Given the description of an element on the screen output the (x, y) to click on. 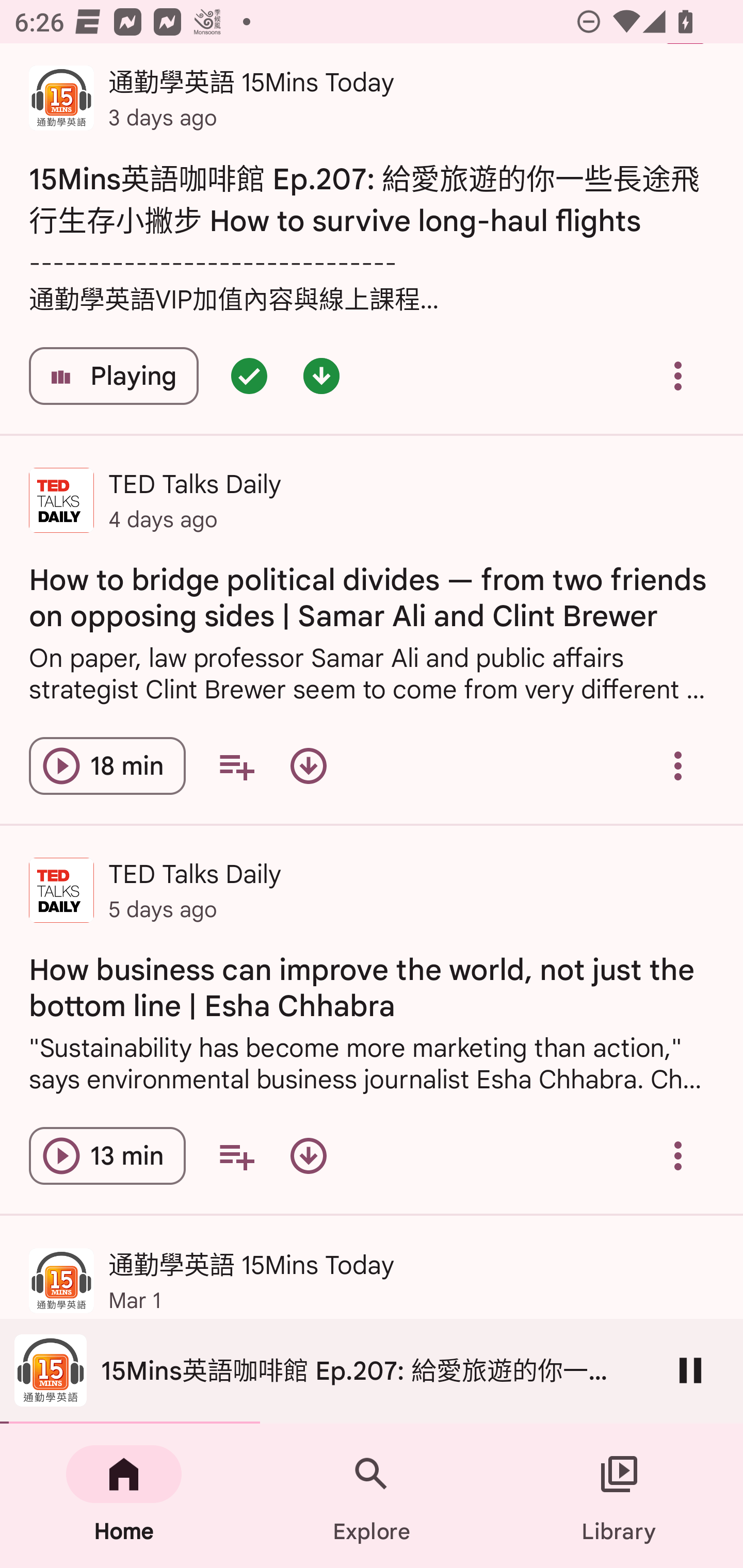
Episode queued - double tap for options (249, 375)
Episode downloaded - double tap for options 0.0 (321, 375)
Overflow menu (677, 375)
Add to your queue (235, 765)
Download episode (308, 765)
Overflow menu (677, 765)
Add to your queue (235, 1156)
Download episode (308, 1156)
Overflow menu (677, 1156)
Pause (690, 1370)
Explore (371, 1495)
Library (619, 1495)
